Given the description of an element on the screen output the (x, y) to click on. 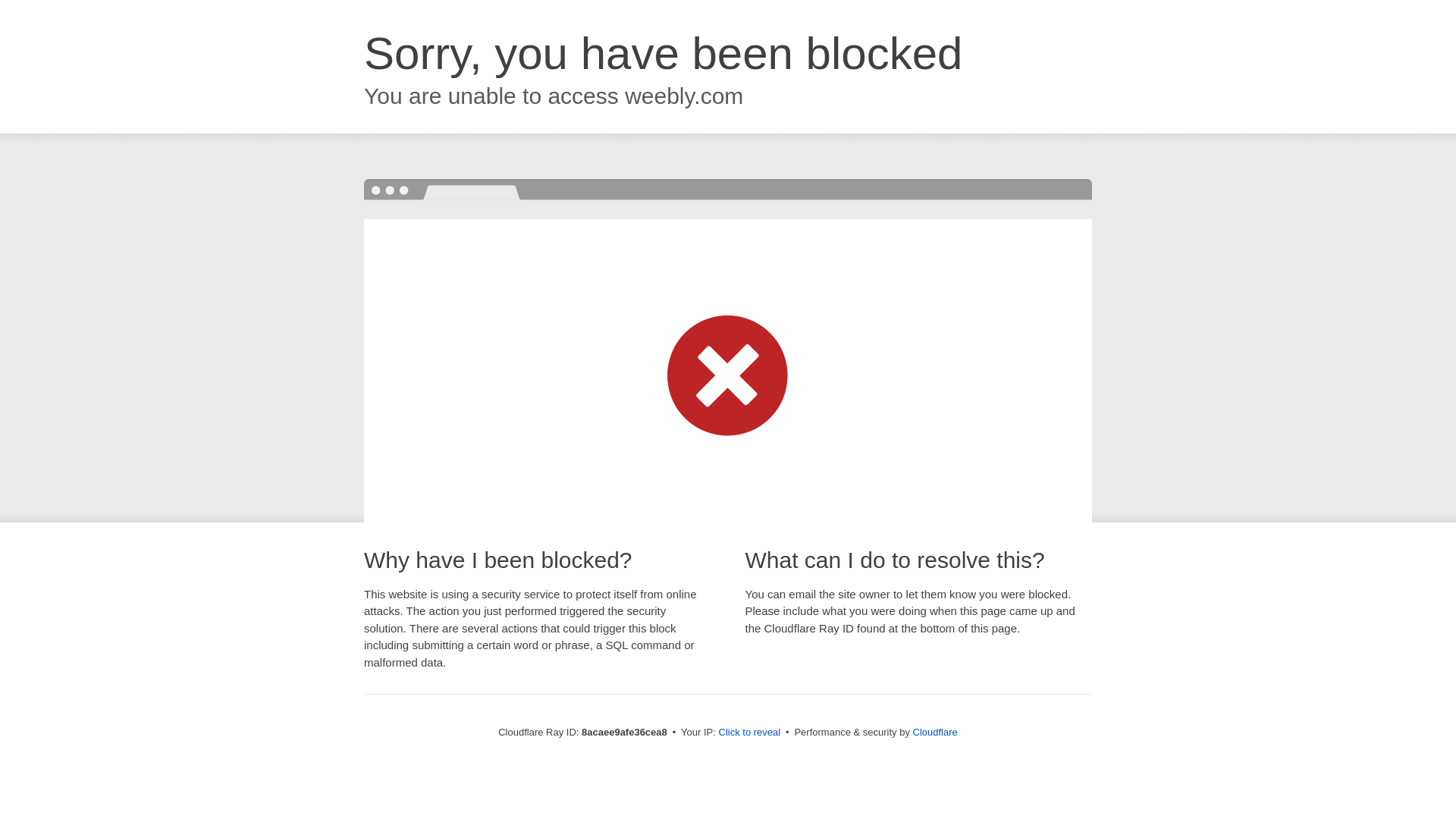
Click to reveal (749, 732)
Cloudflare (935, 731)
